Given the description of an element on the screen output the (x, y) to click on. 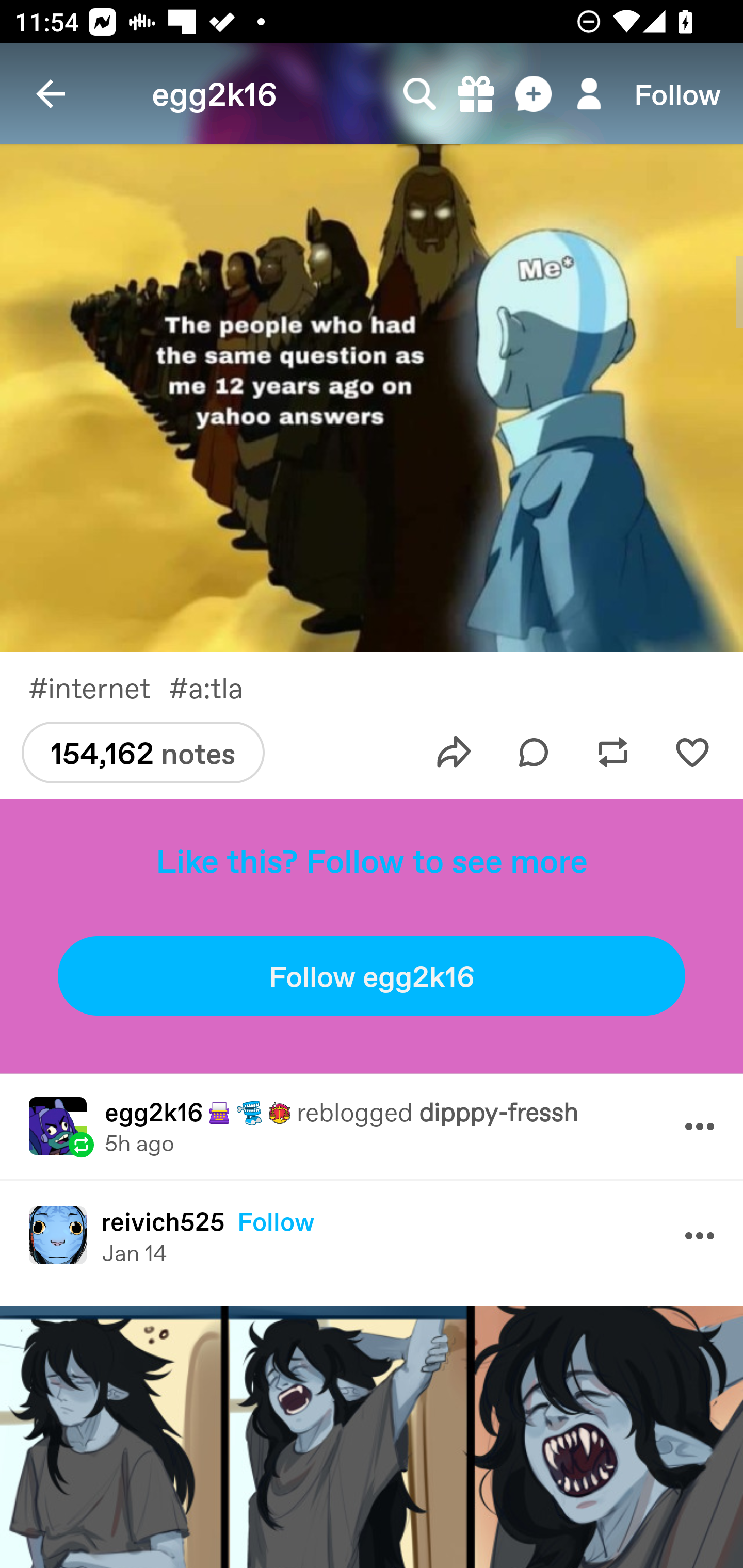
Navigate up (50, 93)
Messages (535, 93)
Follow (677, 93)
#internet (98, 686)
#a:tla (219, 686)
Share post to message (454, 752)
Reply (533, 752)
Reblog (612, 752)
Like (691, 752)
154,162 notes (142, 752)
Like this? Follow to see more (371, 859)
Follow egg2k16 (371, 976)
